Given the description of an element on the screen output the (x, y) to click on. 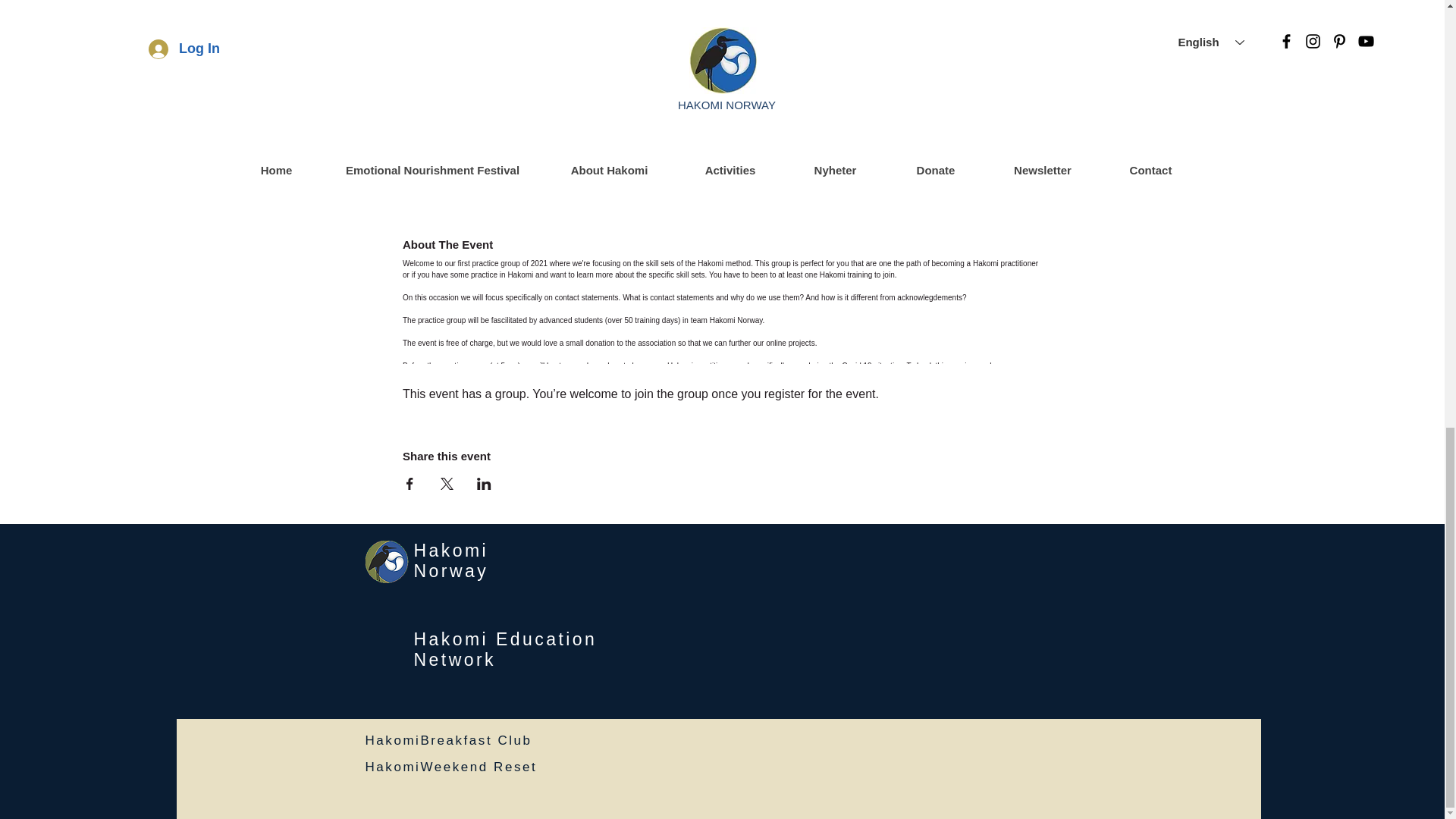
HakomiBreakfast Club (448, 740)
Hakomi Education Network (504, 649)
HakomiWeekend Reset (451, 766)
